Given the description of an element on the screen output the (x, y) to click on. 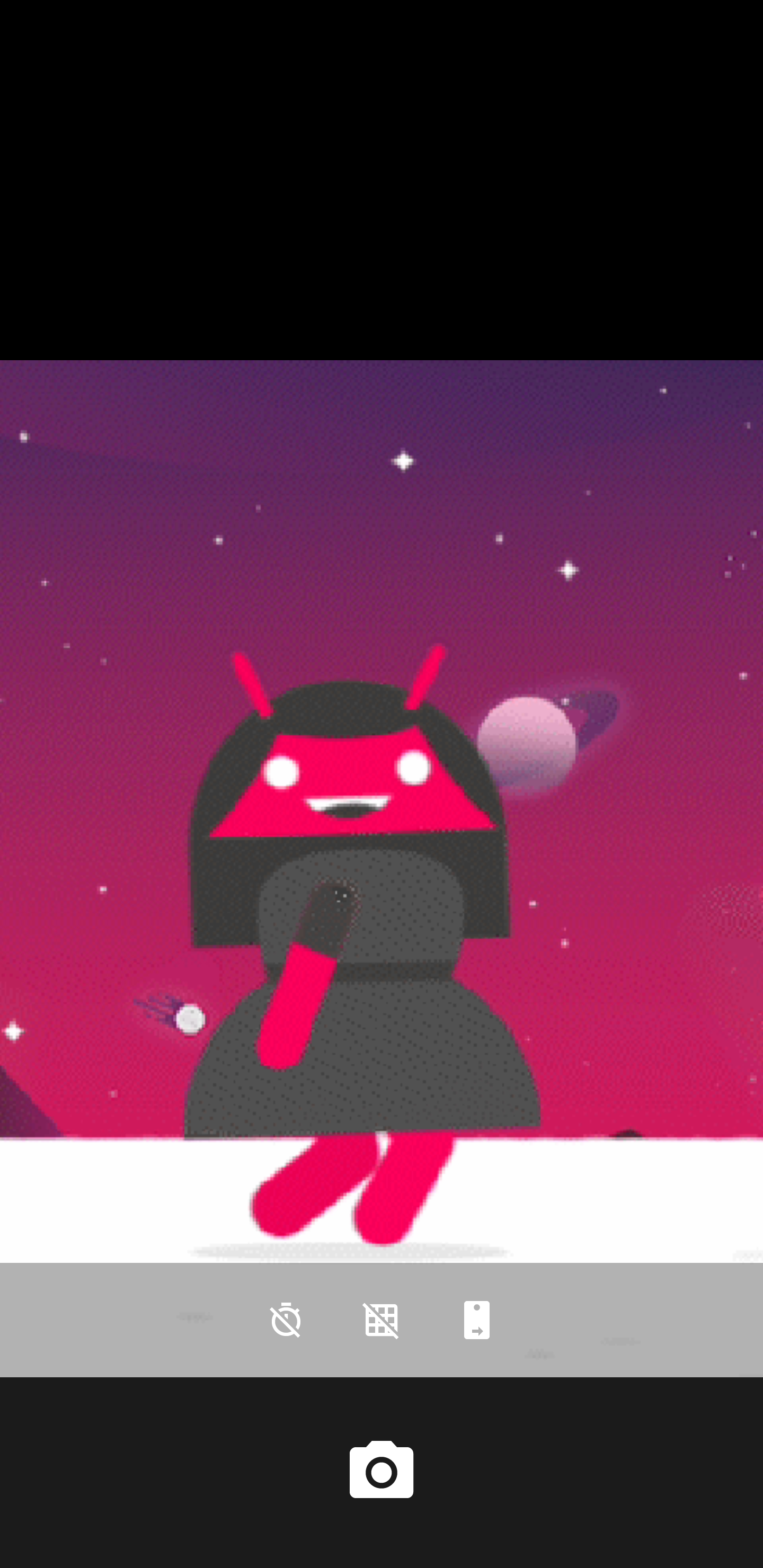
Countdown timer is off (285, 1319)
Grid lines off (381, 1319)
Back camera (476, 1319)
Shutter (381, 1472)
